Given the description of an element on the screen output the (x, y) to click on. 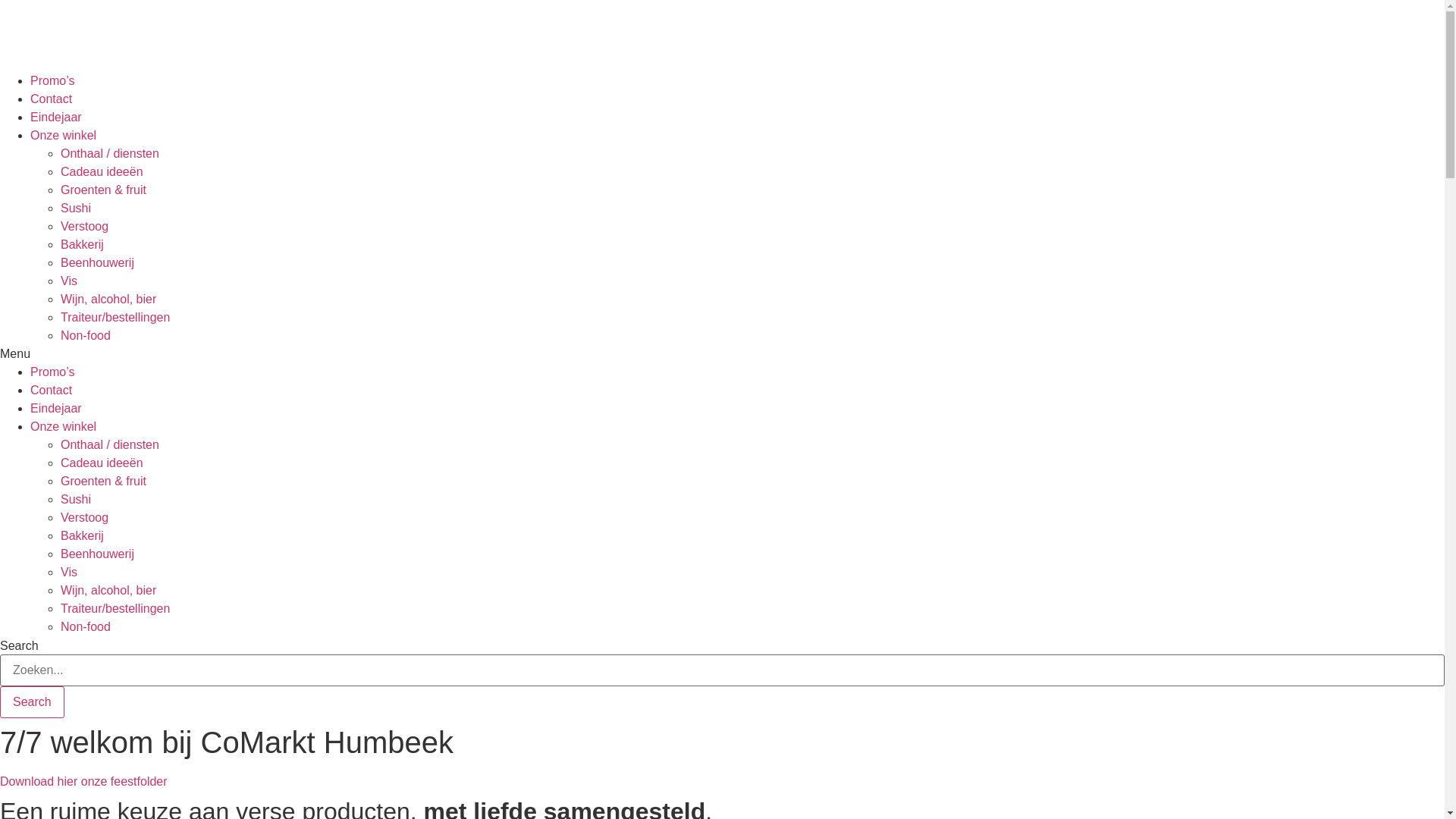
Verstoog Element type: text (84, 517)
Non-food Element type: text (85, 626)
Sushi Element type: text (75, 498)
Contact Element type: text (51, 389)
Sushi Element type: text (75, 207)
Onthaal / diensten Element type: text (109, 444)
Wijn, alcohol, bier Element type: text (108, 298)
Bakkerij Element type: text (81, 244)
Beenhouwerij Element type: text (97, 262)
Traiteur/bestellingen Element type: text (114, 608)
Groenten & fruit Element type: text (103, 189)
Search Element type: text (32, 702)
Eindejaar Element type: text (55, 407)
Non-food Element type: text (85, 335)
Contact Element type: text (51, 98)
Onthaal / diensten Element type: text (109, 153)
Onze winkel Element type: text (63, 134)
Download hier onze feestfolder Element type: text (83, 781)
Wijn, alcohol, bier Element type: text (108, 589)
Vis Element type: text (68, 280)
Beenhouwerij Element type: text (97, 553)
Verstoog Element type: text (84, 225)
Eindejaar Element type: text (55, 116)
Traiteur/bestellingen Element type: text (114, 316)
Vis Element type: text (68, 571)
Onze winkel Element type: text (63, 426)
Groenten & fruit Element type: text (103, 480)
Bakkerij Element type: text (81, 535)
